Given the description of an element on the screen output the (x, y) to click on. 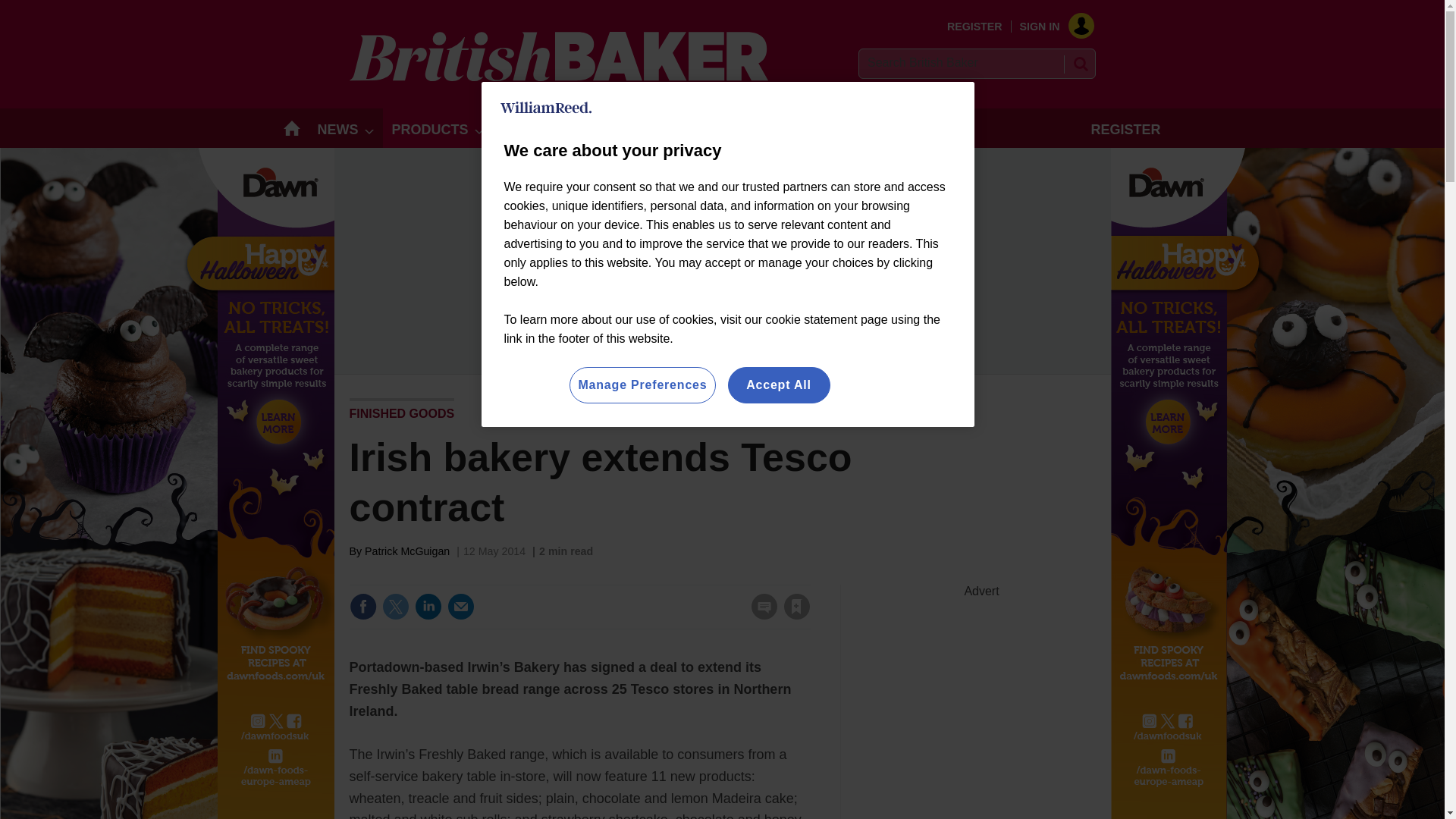
Share this on Linked in (427, 605)
Share this on Facebook (362, 605)
William Reed (545, 107)
SEARCH (1079, 63)
REGISTER (975, 26)
No comments (759, 615)
SIGN IN (1051, 26)
Site name (558, 76)
3rd party ad content (980, 692)
Email this article (460, 605)
